Given the description of an element on the screen output the (x, y) to click on. 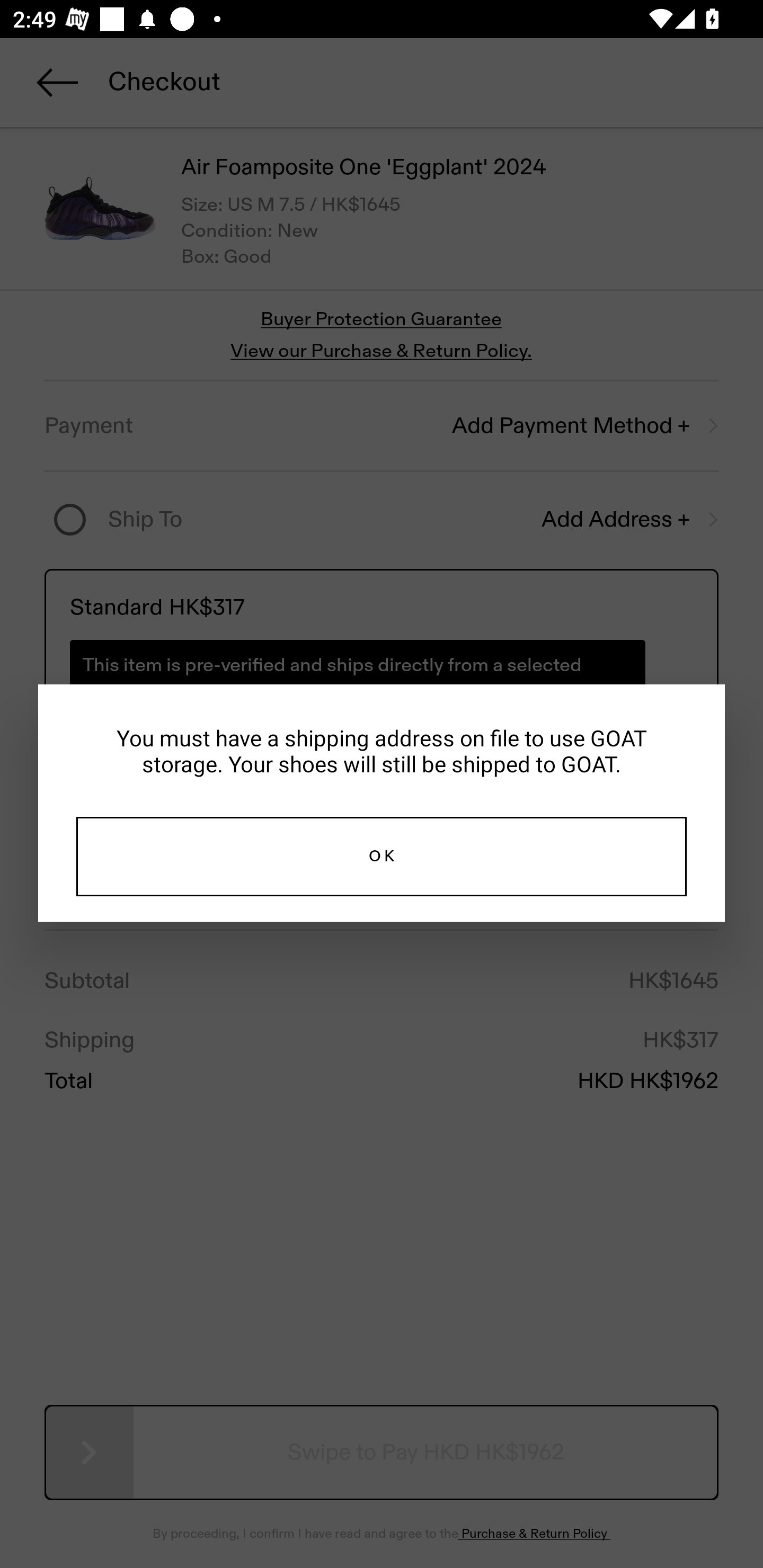
OK (381, 856)
